Given the description of an element on the screen output the (x, y) to click on. 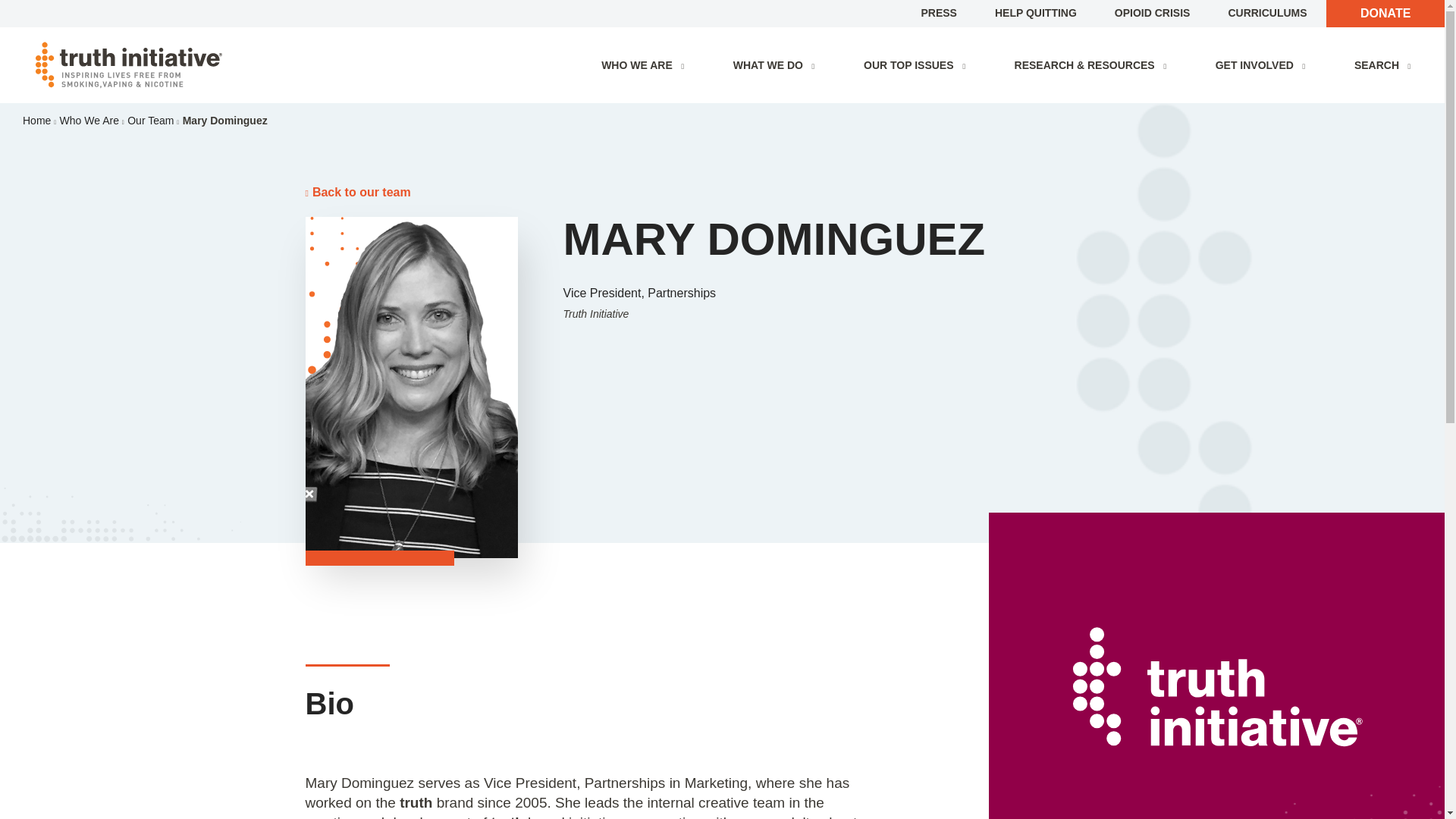
OPIOID CRISIS (1153, 12)
DONATE (1384, 13)
WHO WE ARE (646, 64)
HELP QUITTING (1035, 12)
WHAT WE DO (777, 64)
GET INVOLVED (1263, 64)
OUR TOP ISSUES (918, 64)
SEARCH (1385, 64)
PRESS (938, 12)
